Given the description of an element on the screen output the (x, y) to click on. 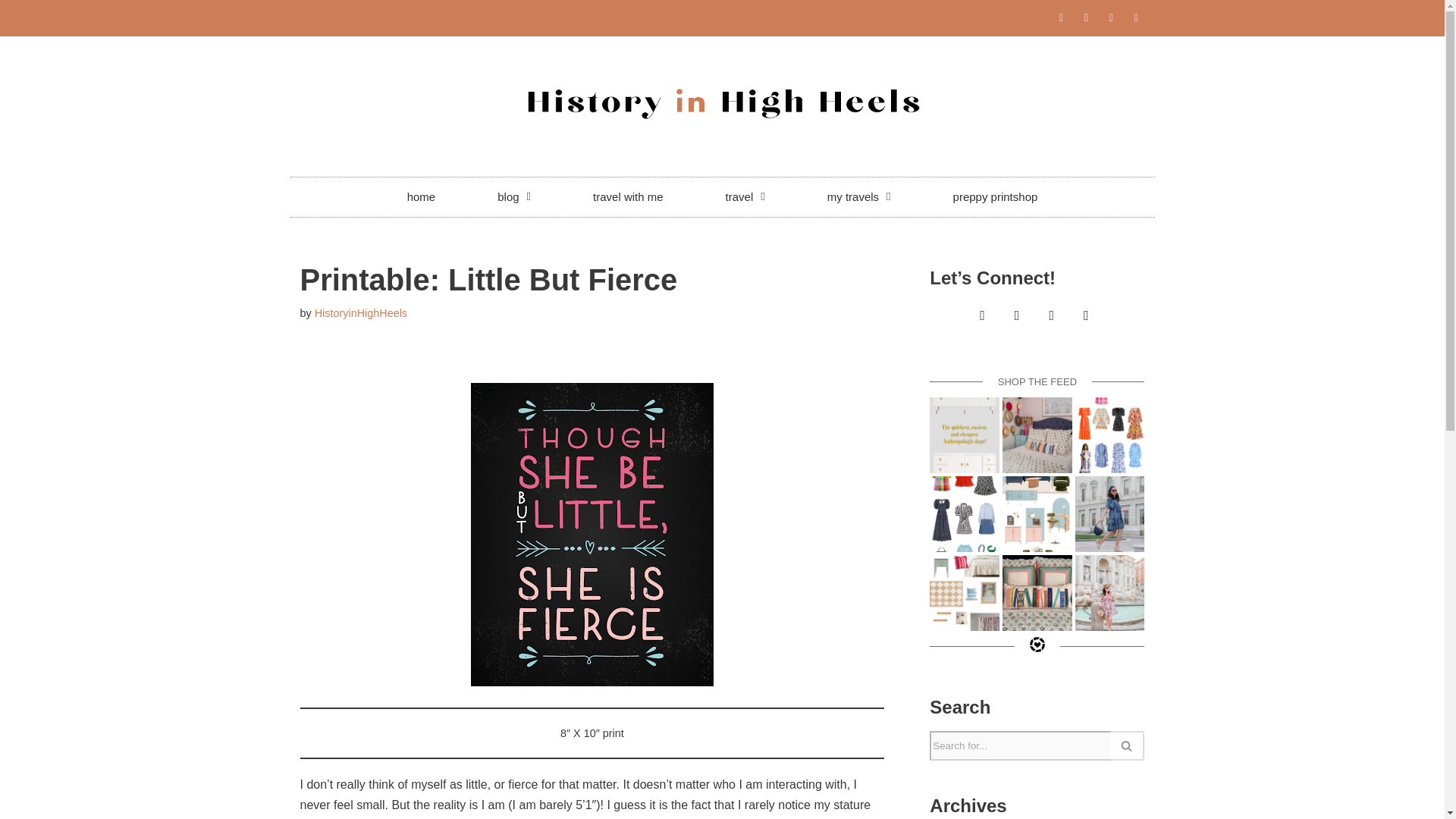
travel with me (628, 197)
Twitter (1050, 316)
travel (745, 197)
blog (513, 197)
Posts by HistoryinHighHeels (360, 313)
Skip to content (11, 31)
Facebook (1085, 316)
Pinterest (1016, 316)
home (421, 197)
my travels (858, 197)
Instagram (982, 316)
